Given the description of an element on the screen output the (x, y) to click on. 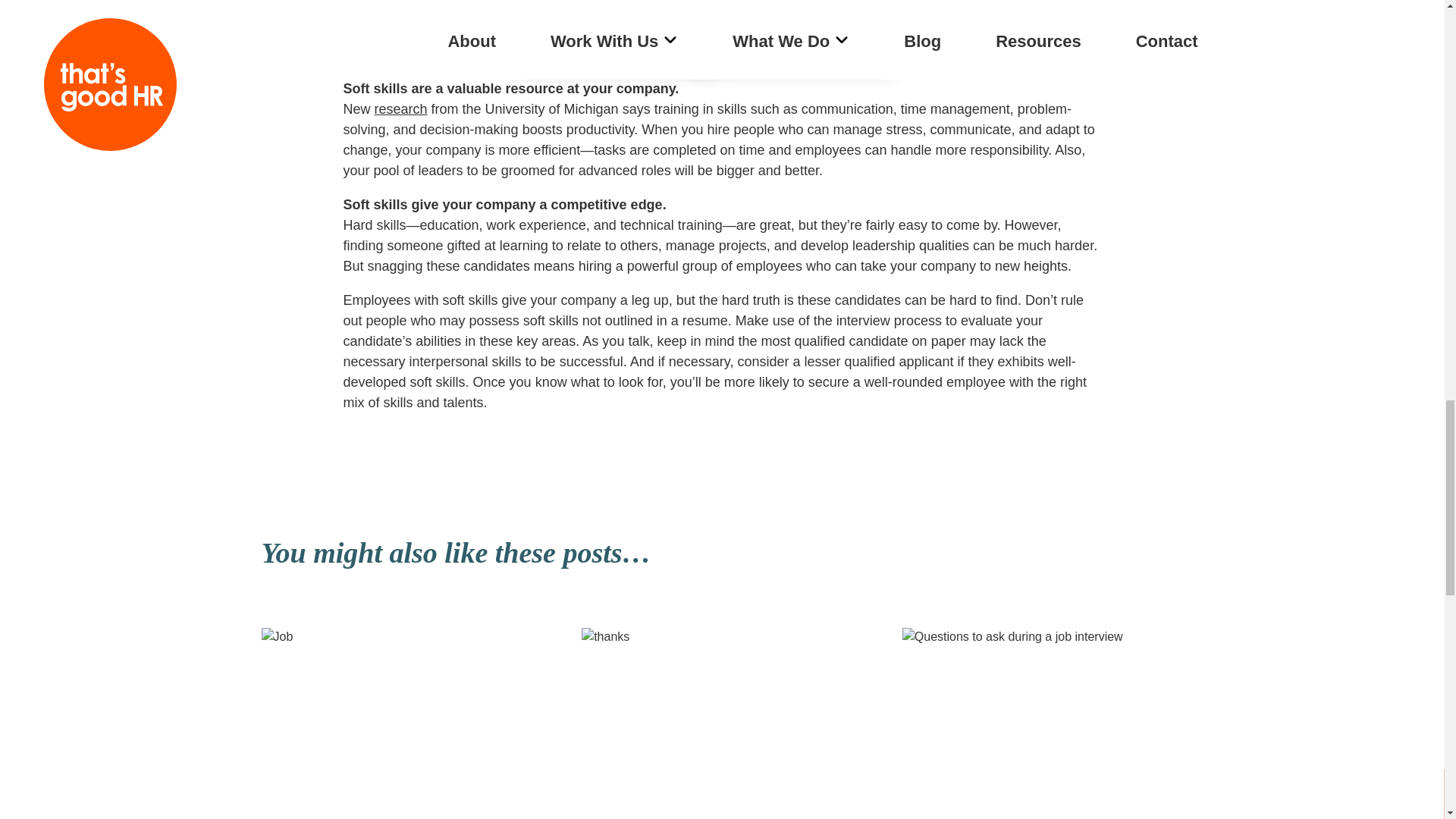
study (450, 13)
research (401, 109)
